Given the description of an element on the screen output the (x, y) to click on. 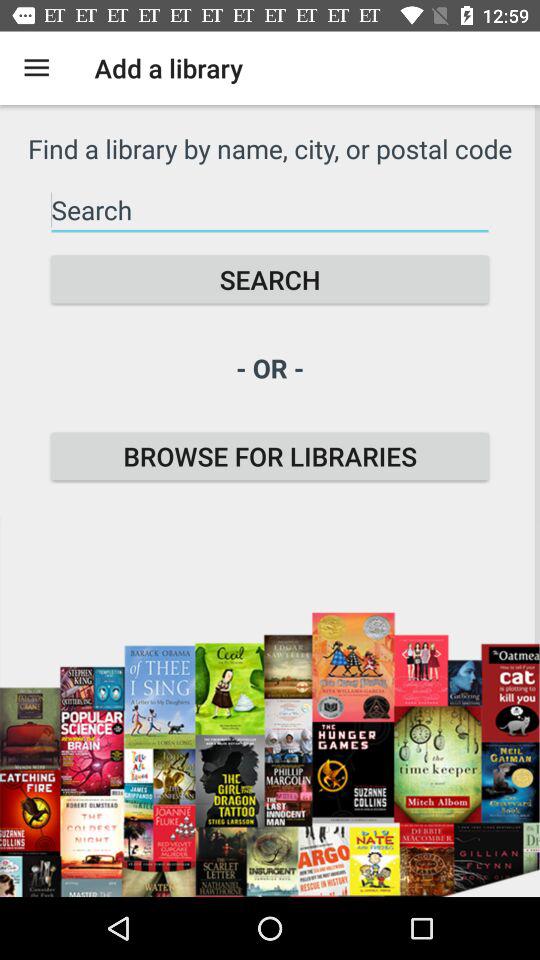
search bar (269, 210)
